Given the description of an element on the screen output the (x, y) to click on. 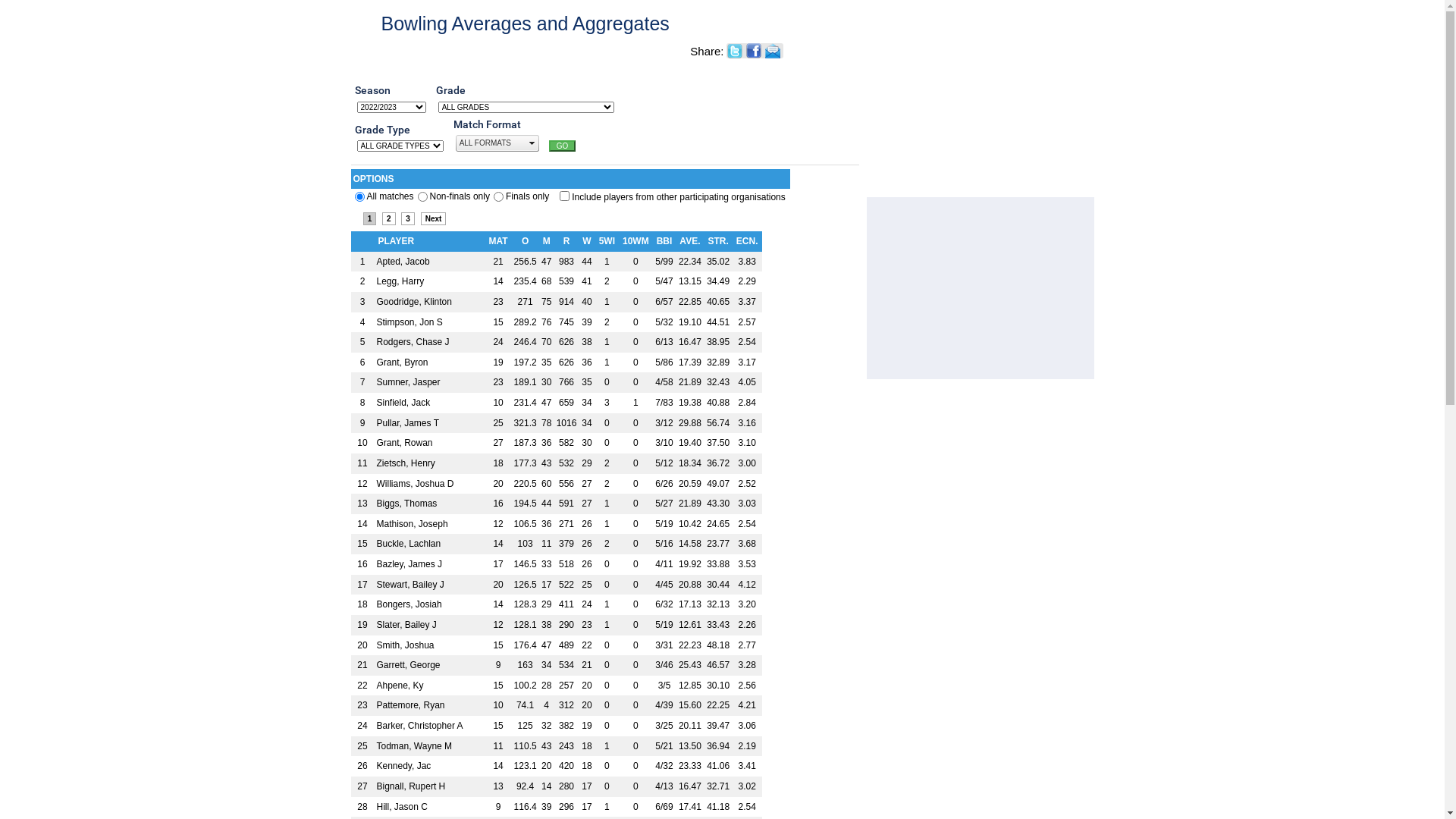
AVE. Element type: text (689, 240)
5WI Element type: text (606, 240)
22 Ahpene, Ky 15 100.2 28 257 20 0 0 3/5 12.85 30.10 2.56 Element type: text (555, 685)
2 Legg, Harry 14 235.4 68 539 41 2 0 5/47 13.15 34.49 2.29 Element type: text (555, 281)
2 Element type: text (498, 196)
Tell a friend Element type: hover (772, 50)
R Element type: text (566, 240)
GO Element type: text (562, 145)
1 Element type: text (422, 196)
26 Kennedy, Jac 14 123.1 20 420 18 0 0 4/32 23.33 41.06 3.41 Element type: text (555, 766)
on Element type: text (564, 195)
PLAYER Element type: text (395, 240)
W Element type: text (586, 240)
O Element type: text (525, 240)
MAT Element type: text (497, 240)
3 Element type: text (407, 218)
6 Grant, Byron 19 197.2 35 626 36 1 0 5/86 17.39 32.89 3.17 Element type: text (555, 362)
Tweet this Element type: hover (734, 51)
BBI Element type: text (664, 240)
Next Element type: text (433, 218)
21 Garrett, George 9 163 34 534 21 0 0 3/46 25.43 46.57 3.28 Element type: text (555, 665)
STR. Element type: text (717, 240)
ECN. Element type: text (746, 240)
select Element type: text (532, 142)
1 Apted, Jacob 21 256.5 47 983 44 1 0 5/99 22.34 35.02 3.83 Element type: text (555, 261)
2 Element type: text (388, 218)
M Element type: text (546, 240)
28 Hill, Jason C 9 116.4 39 296 17 1 0 6/69 17.41 41.18 2.54 Element type: text (555, 807)
Share on Facebook Element type: hover (754, 50)
10 Grant, Rowan 27 187.3 36 582 30 0 0 3/10 19.40 37.50 3.10 Element type: text (555, 443)
10WM Element type: text (635, 240)
